Given the description of an element on the screen output the (x, y) to click on. 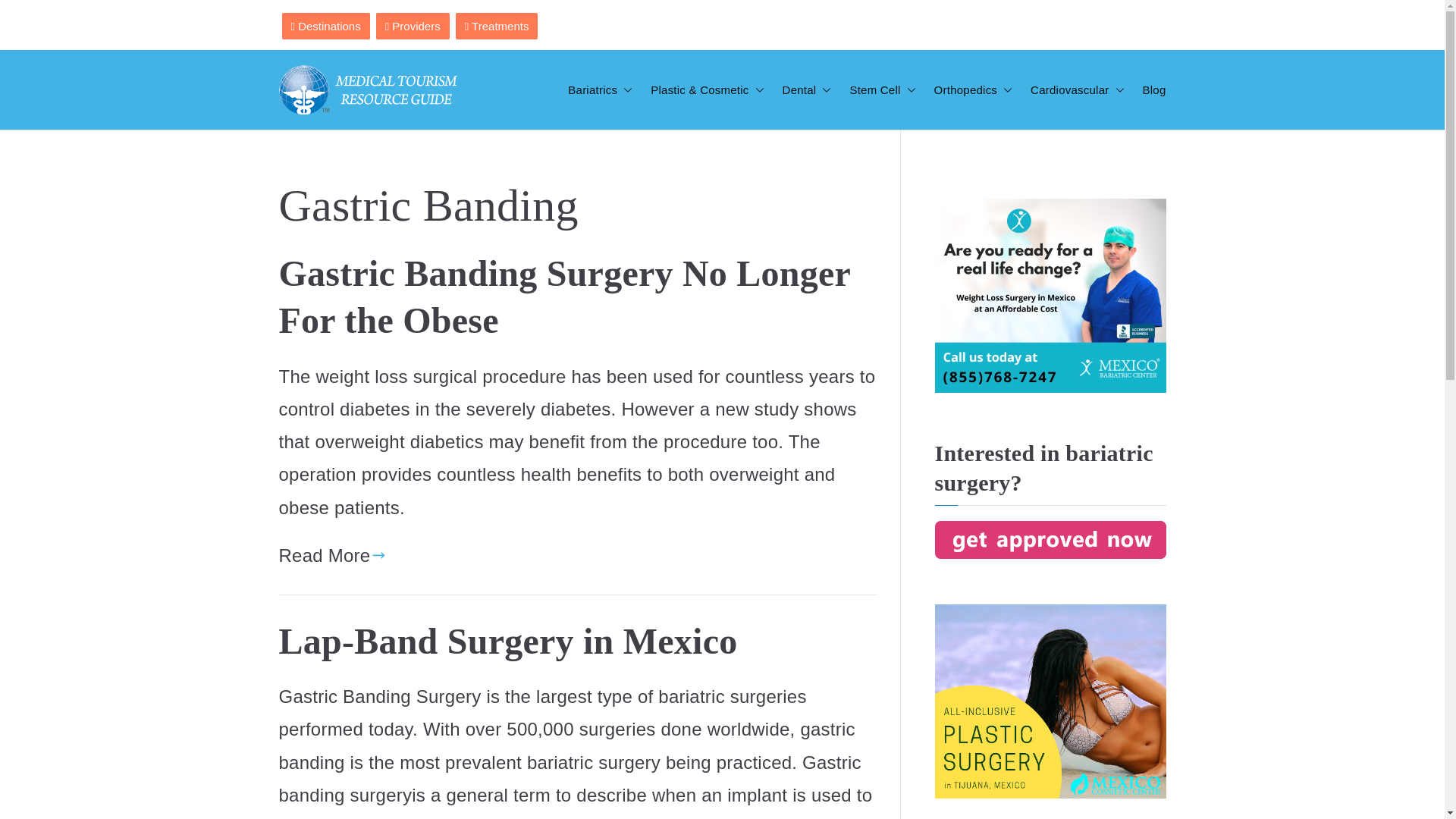
Providers (412, 26)
Bariatrics (599, 89)
Destinations (325, 26)
Medical Tourism Resource Guide (773, 148)
Treatments (496, 26)
Providers (412, 24)
